Given the description of an element on the screen output the (x, y) to click on. 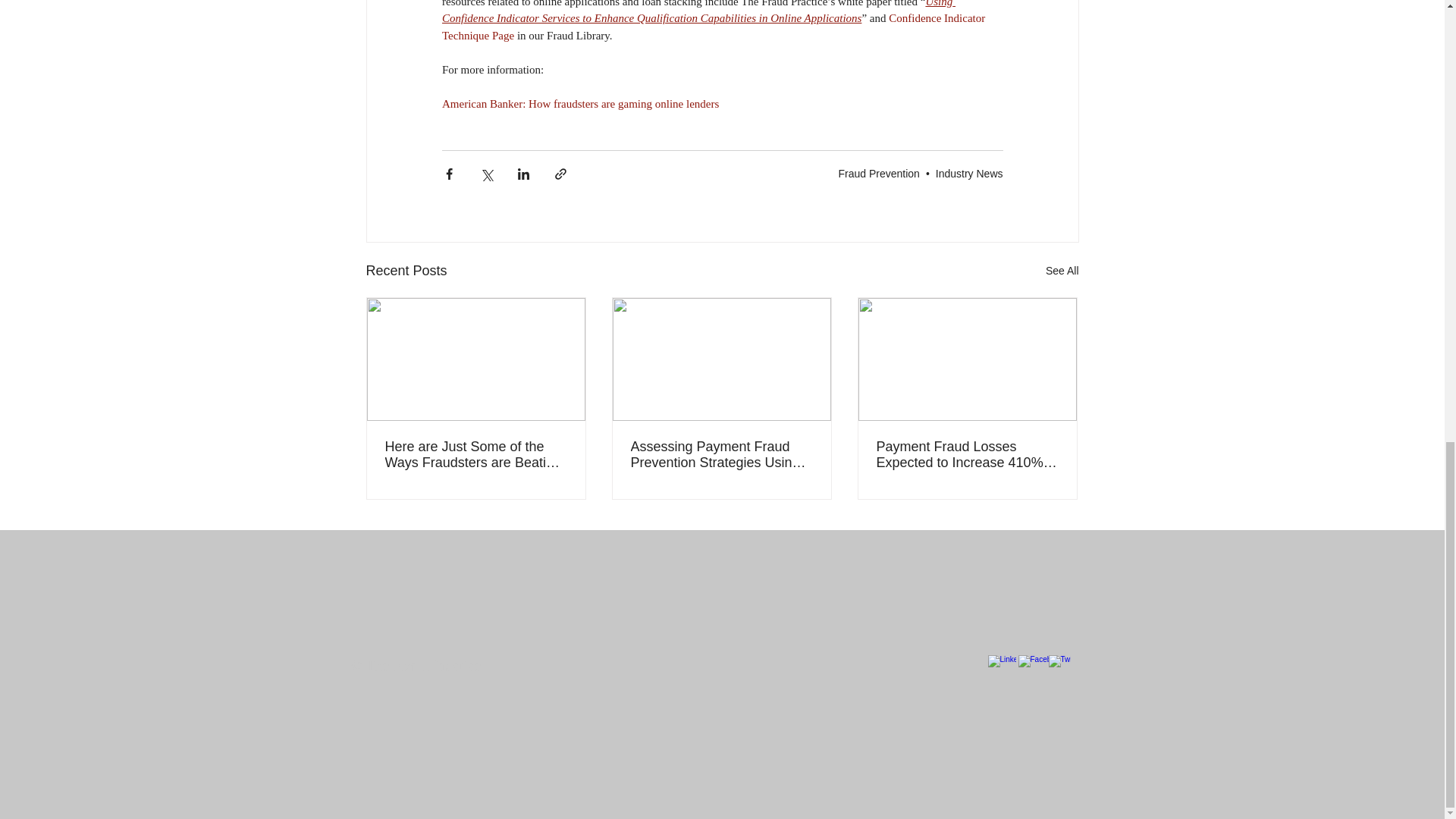
American Banker: How fraudsters are gaming online lenders (579, 103)
Confidence Indicator Technique Page (714, 26)
